Given the description of an element on the screen output the (x, y) to click on. 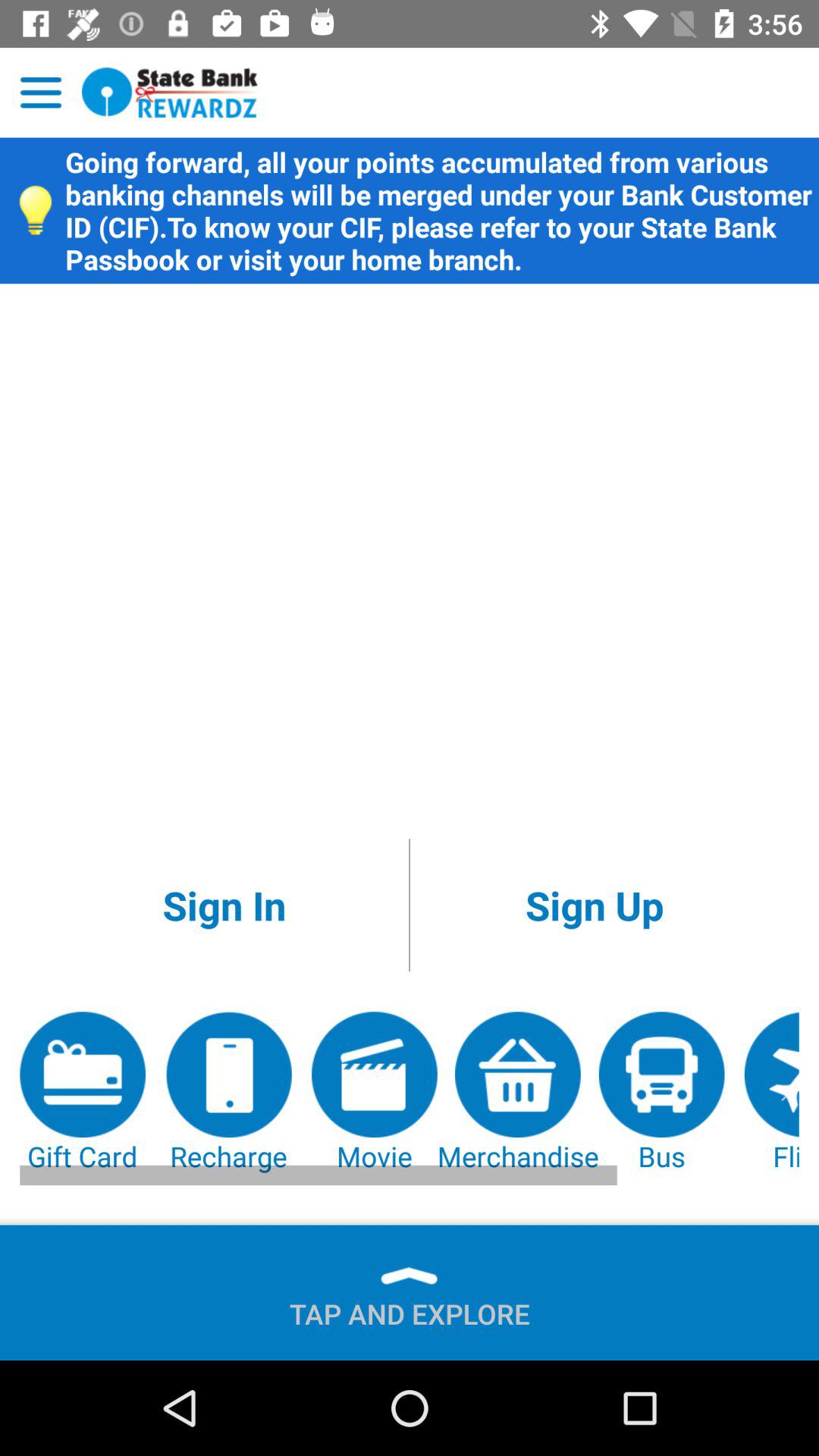
open the flight (771, 1093)
